Given the description of an element on the screen output the (x, y) to click on. 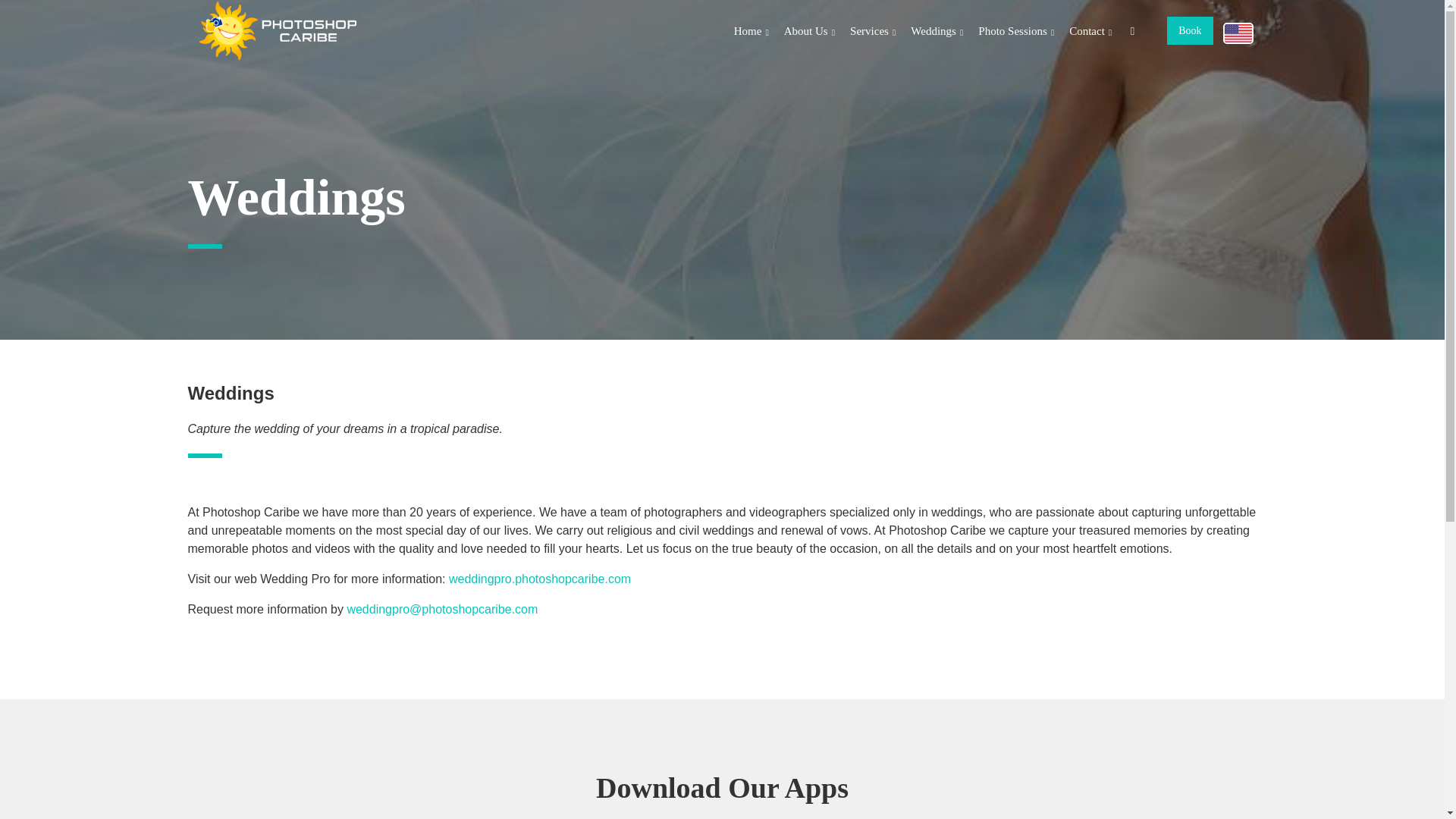
weddingpro.photoshopcaribe.com (539, 578)
Photo Sessions (1016, 31)
Weddings (722, 207)
Book (1189, 30)
